Given the description of an element on the screen output the (x, y) to click on. 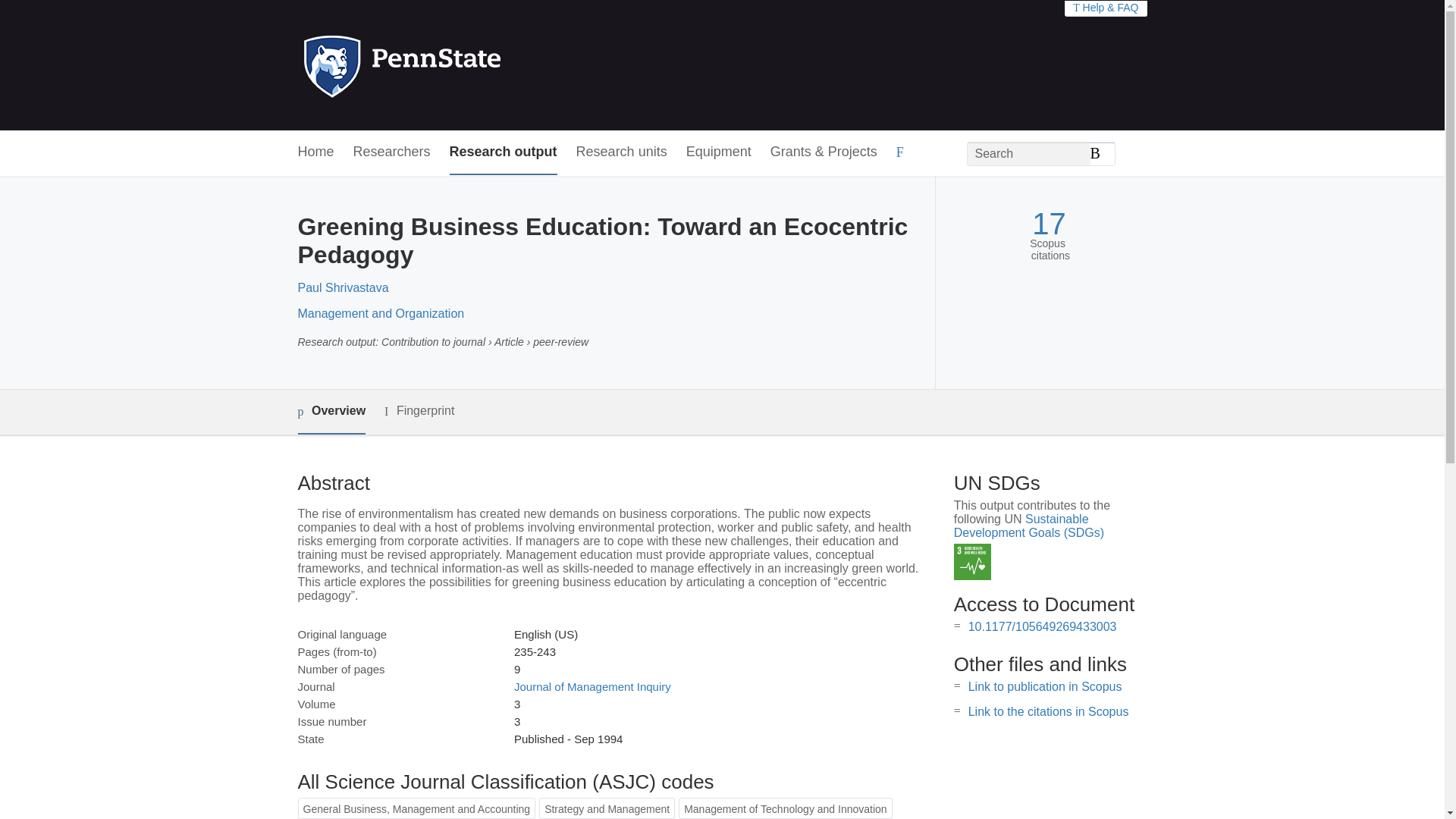
Fingerprint (419, 411)
Equipment (718, 152)
SDG 3 - Good Health and Well-being (972, 561)
Penn State Home (467, 65)
Management and Organization (380, 313)
Research output (503, 152)
Researchers (391, 152)
Research units (621, 152)
Link to the citations in Scopus (1048, 711)
Overview (331, 411)
Paul Shrivastava (342, 287)
Journal of Management Inquiry (592, 686)
17 (1048, 223)
Link to publication in Scopus (1045, 686)
